Given the description of an element on the screen output the (x, y) to click on. 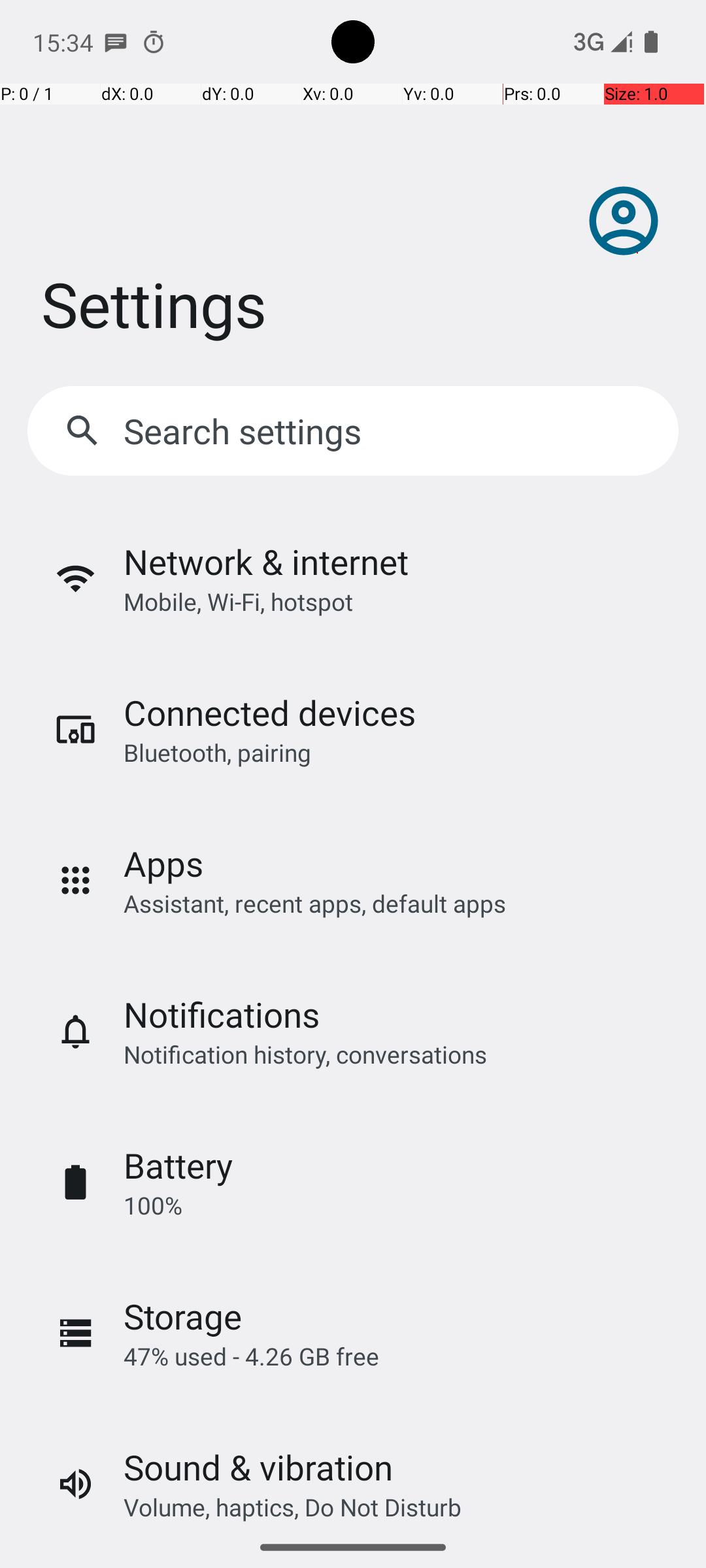
47% used - 4.26 GB free Element type: android.widget.TextView (251, 1355)
